Given the description of an element on the screen output the (x, y) to click on. 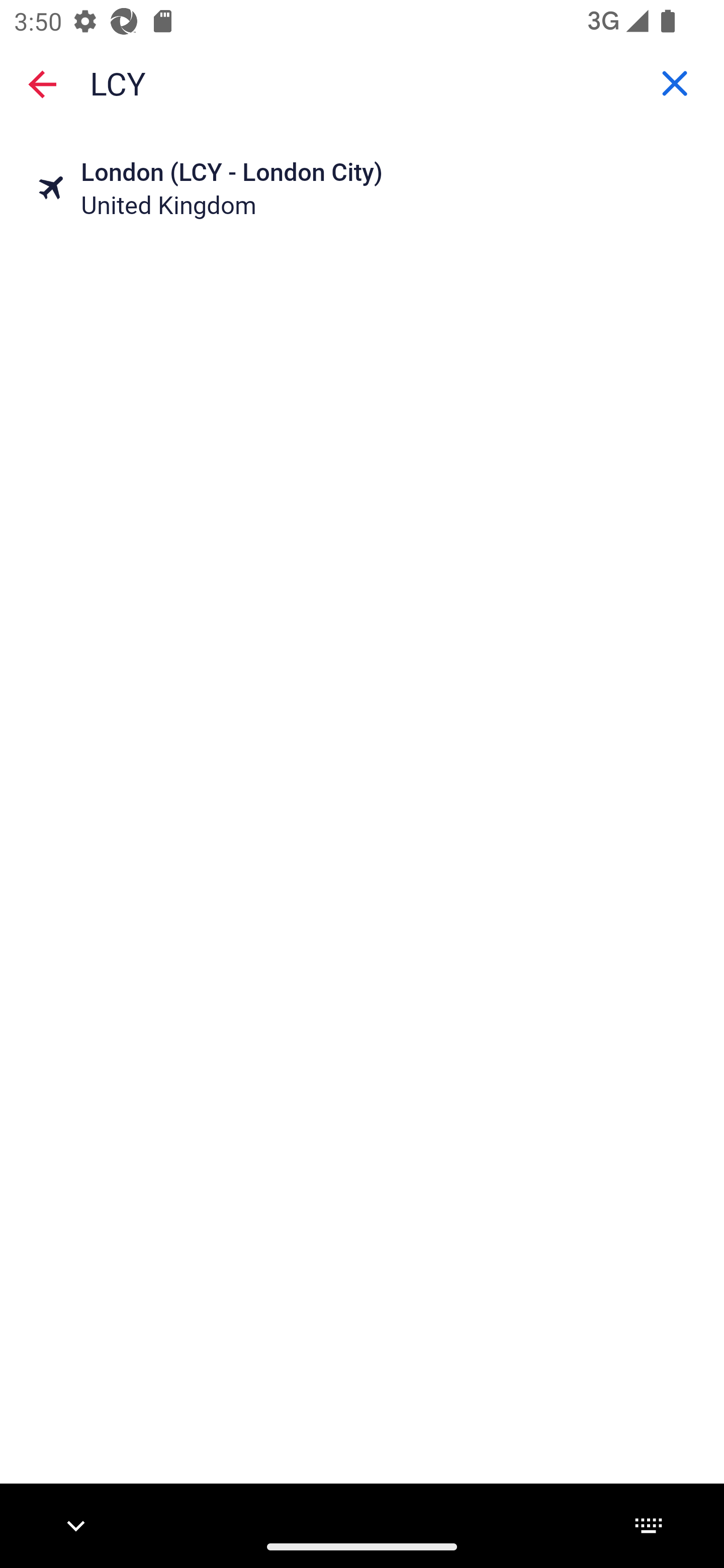
Clear Drop-off (674, 82)
Drop-off, LCY (361, 82)
Close search screen (41, 83)
